Given the description of an element on the screen output the (x, y) to click on. 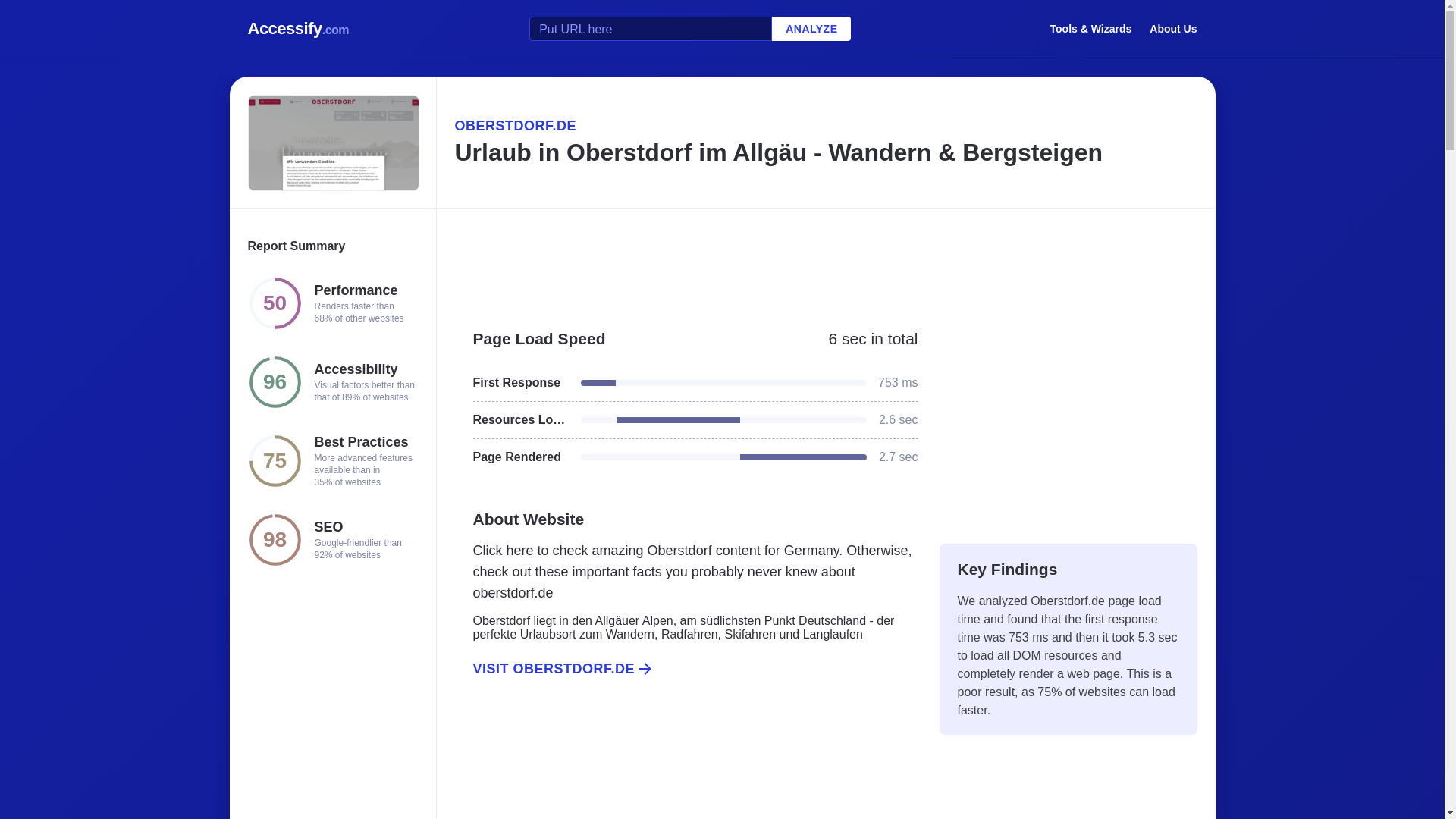
About Us (1173, 28)
VISIT OBERSTDORF.DE (686, 669)
Advertisement (686, 765)
Advertisement (825, 260)
ANALYZE (810, 28)
Accessify.com (298, 28)
Advertisement (1067, 418)
OBERSTDORF.DE (825, 126)
